Given the description of an element on the screen output the (x, y) to click on. 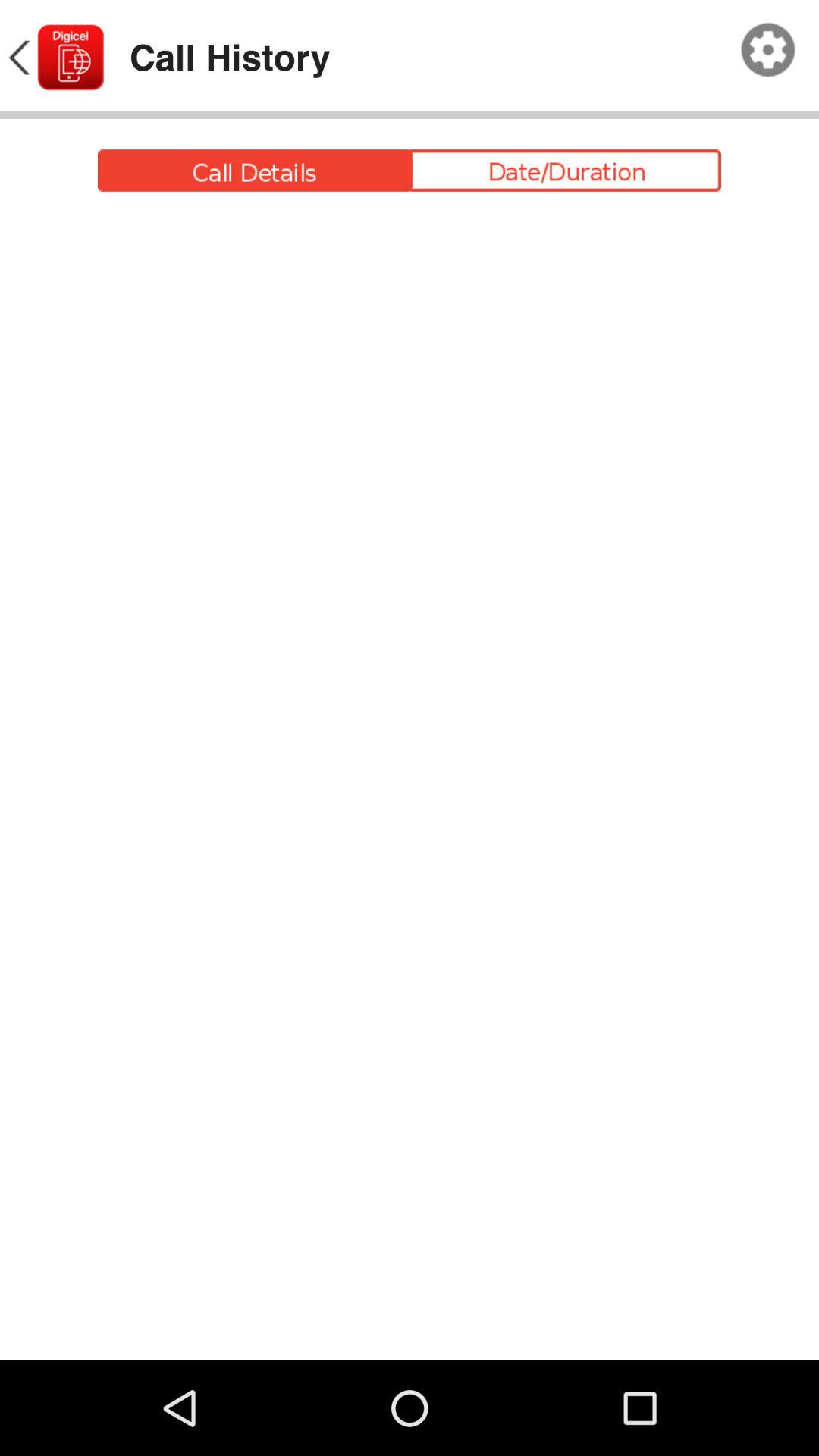
back (54, 57)
